Given the description of an element on the screen output the (x, y) to click on. 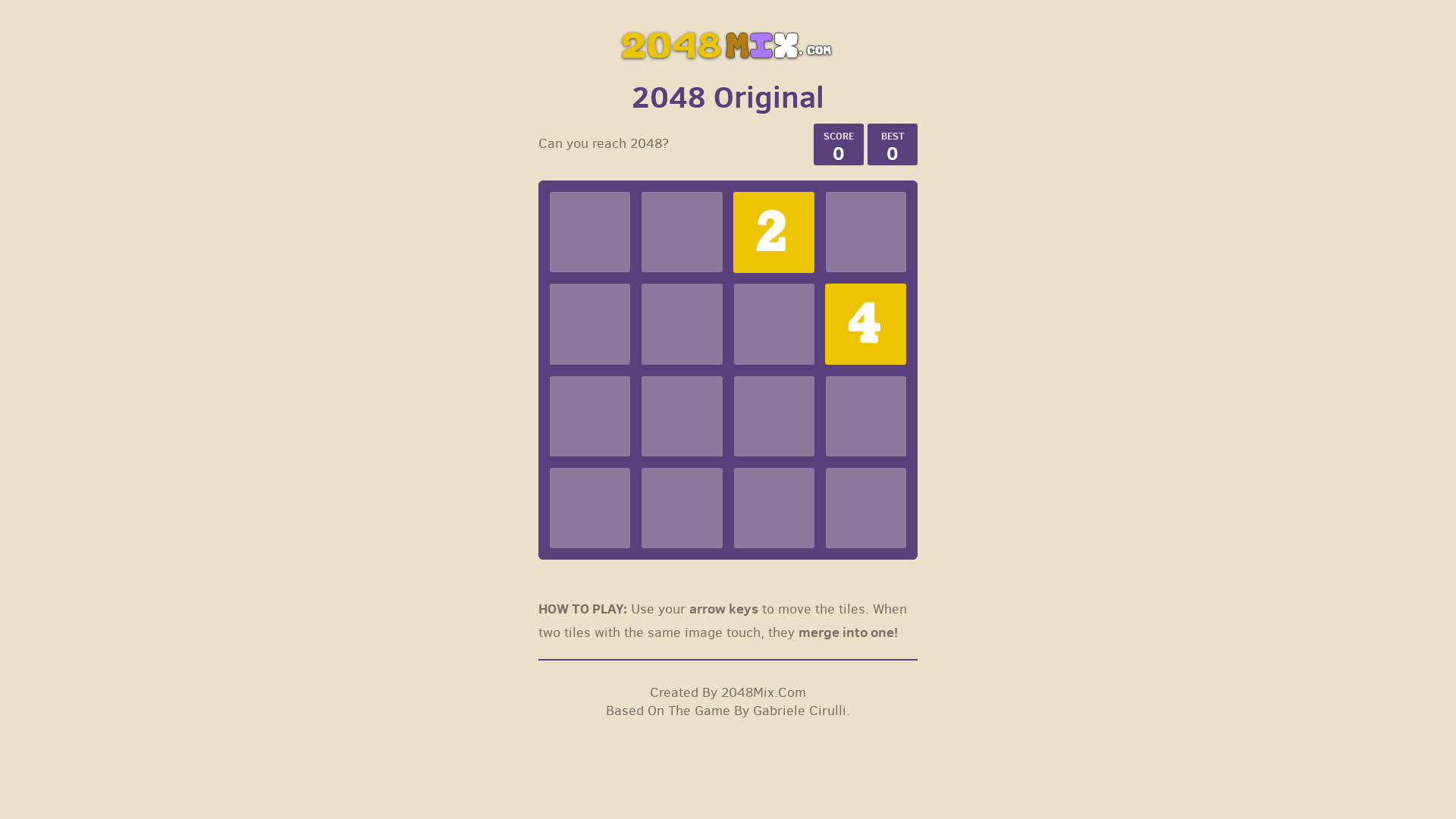
2048 Mix Element type: hover (727, 44)
